Given the description of an element on the screen output the (x, y) to click on. 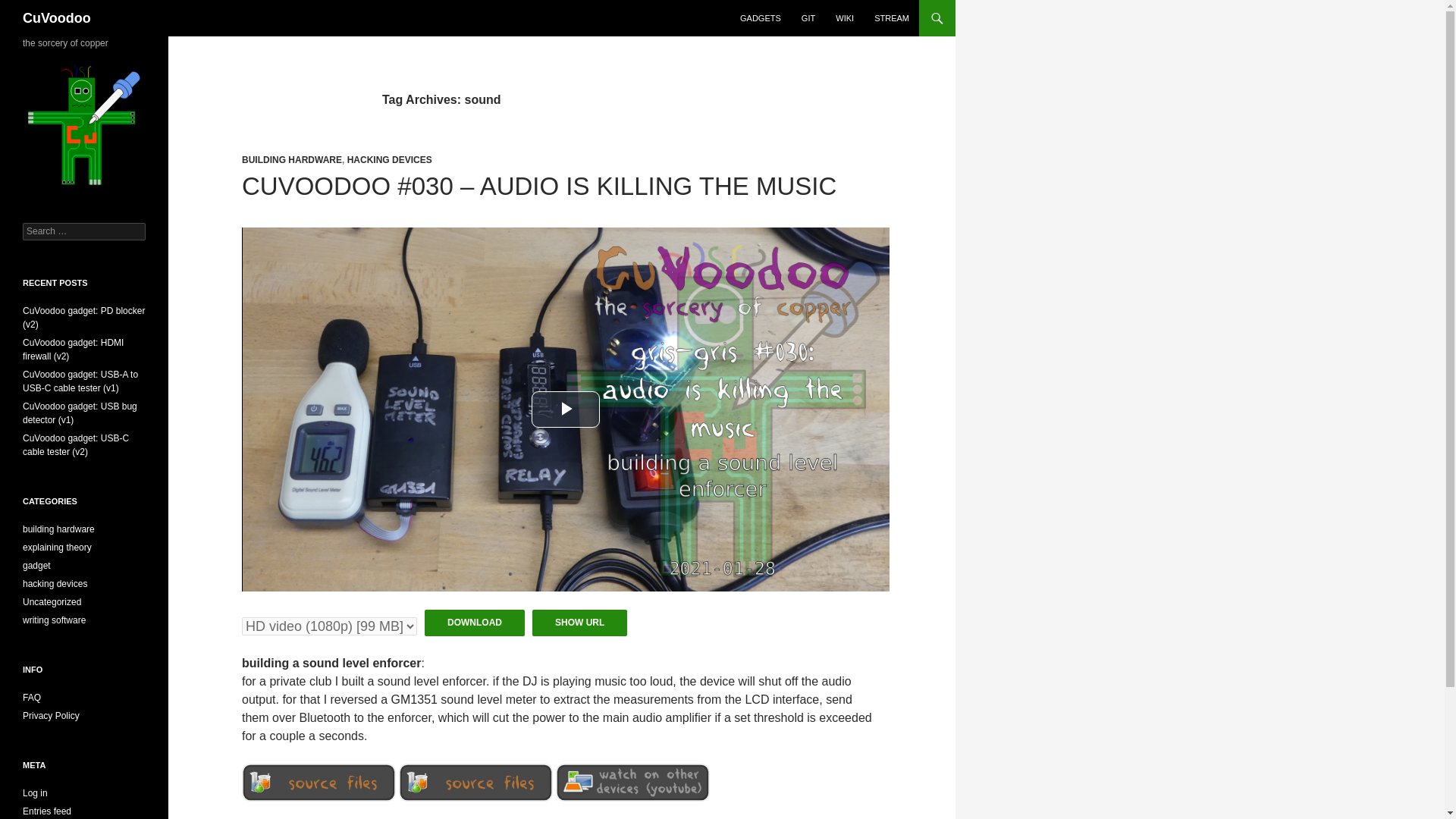
Play Video (565, 409)
STREAM (891, 18)
CuVoodoo (56, 18)
BUILDING HARDWARE (291, 159)
GADGETS (760, 18)
HACKING DEVICES (389, 159)
Play Video (565, 409)
WIKI (845, 18)
SHOW URL (579, 622)
DOWNLOAD (474, 622)
